Given the description of an element on the screen output the (x, y) to click on. 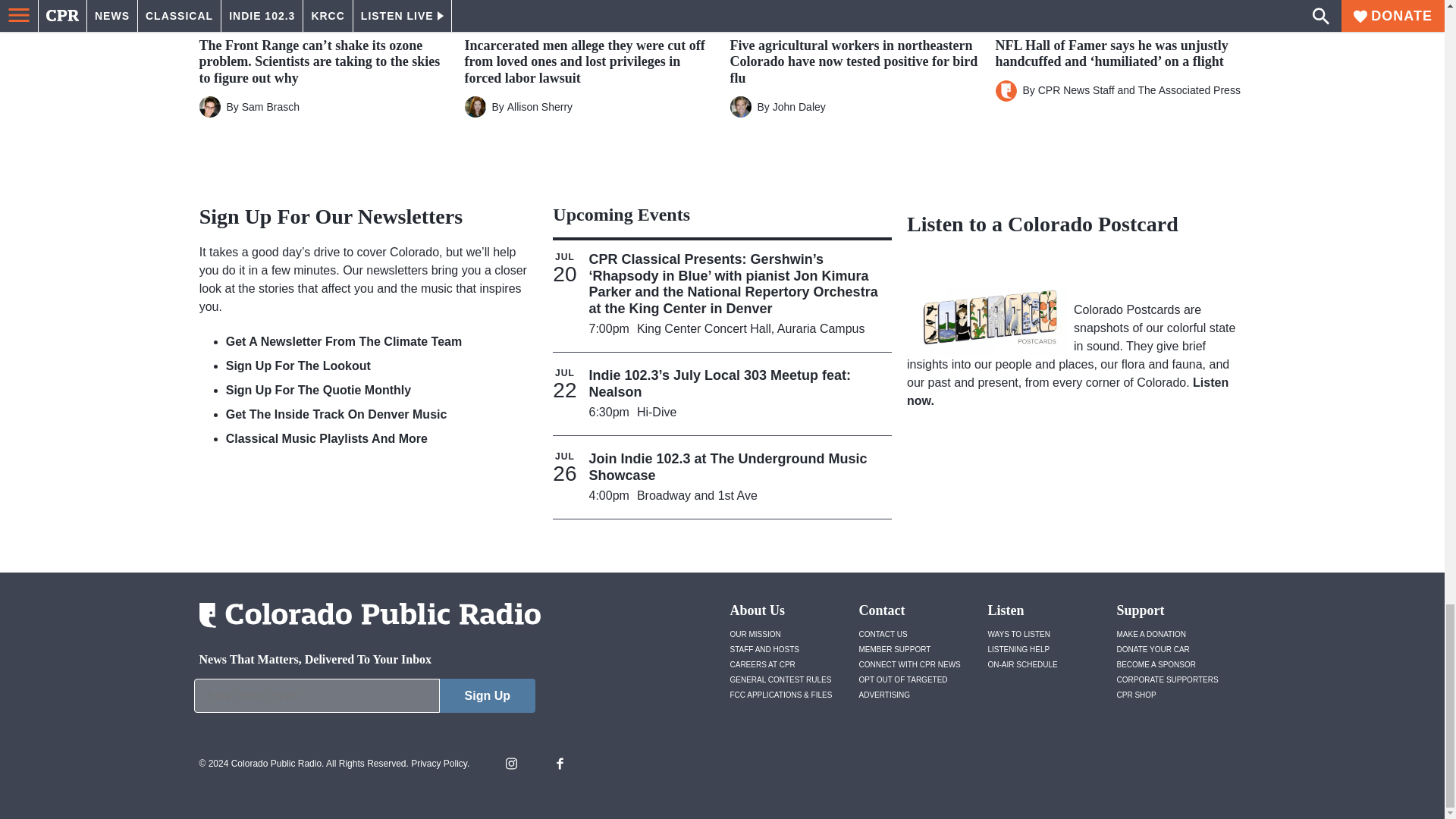
footer (364, 699)
